Given the description of an element on the screen output the (x, y) to click on. 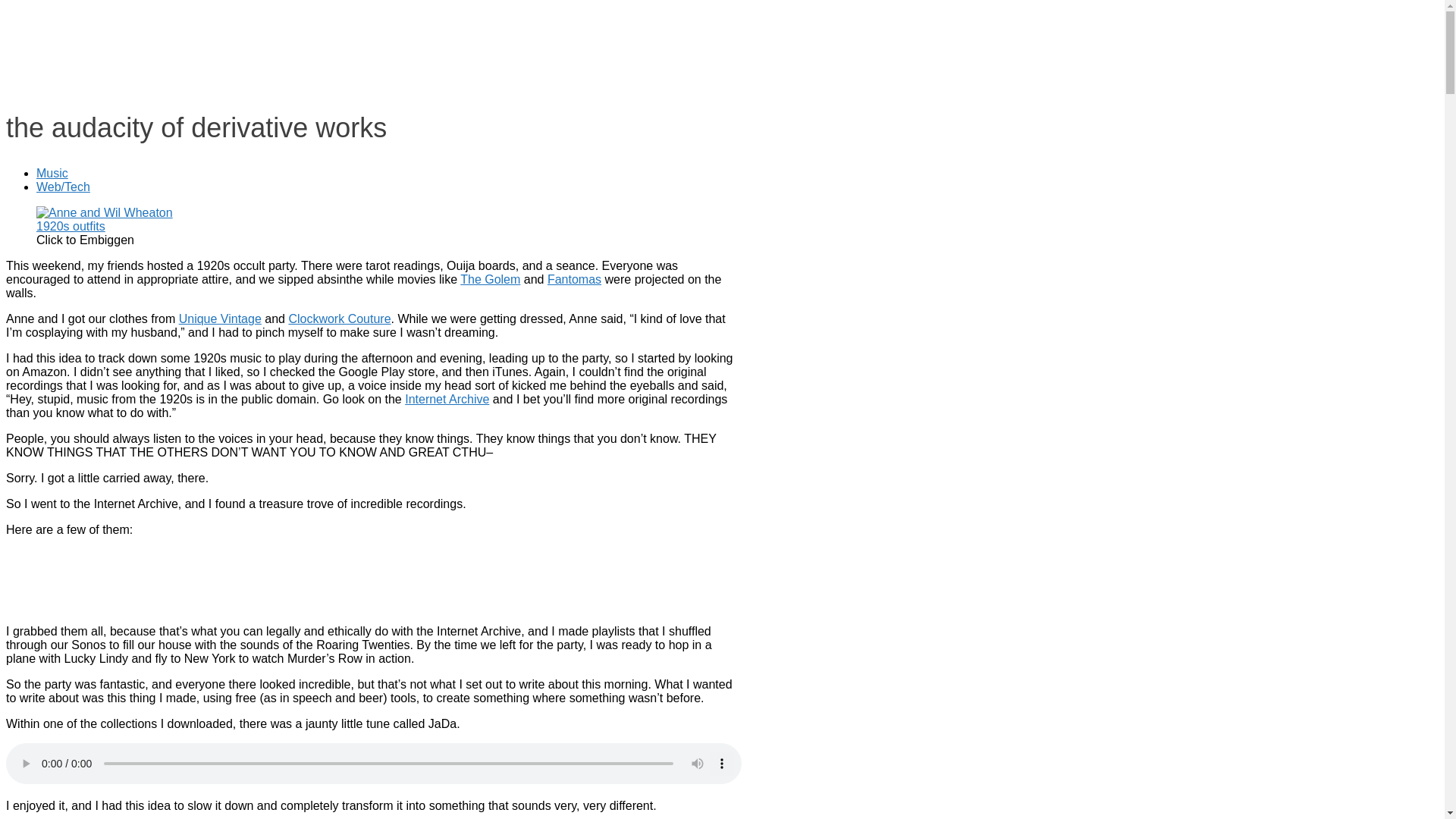
Music (52, 173)
The Golem (489, 278)
WIL WHEATON dot NET (155, 33)
Clockwork Couture (339, 318)
Fantomas (574, 278)
Internet Archive (446, 399)
Unique Vintage (220, 318)
